Given the description of an element on the screen output the (x, y) to click on. 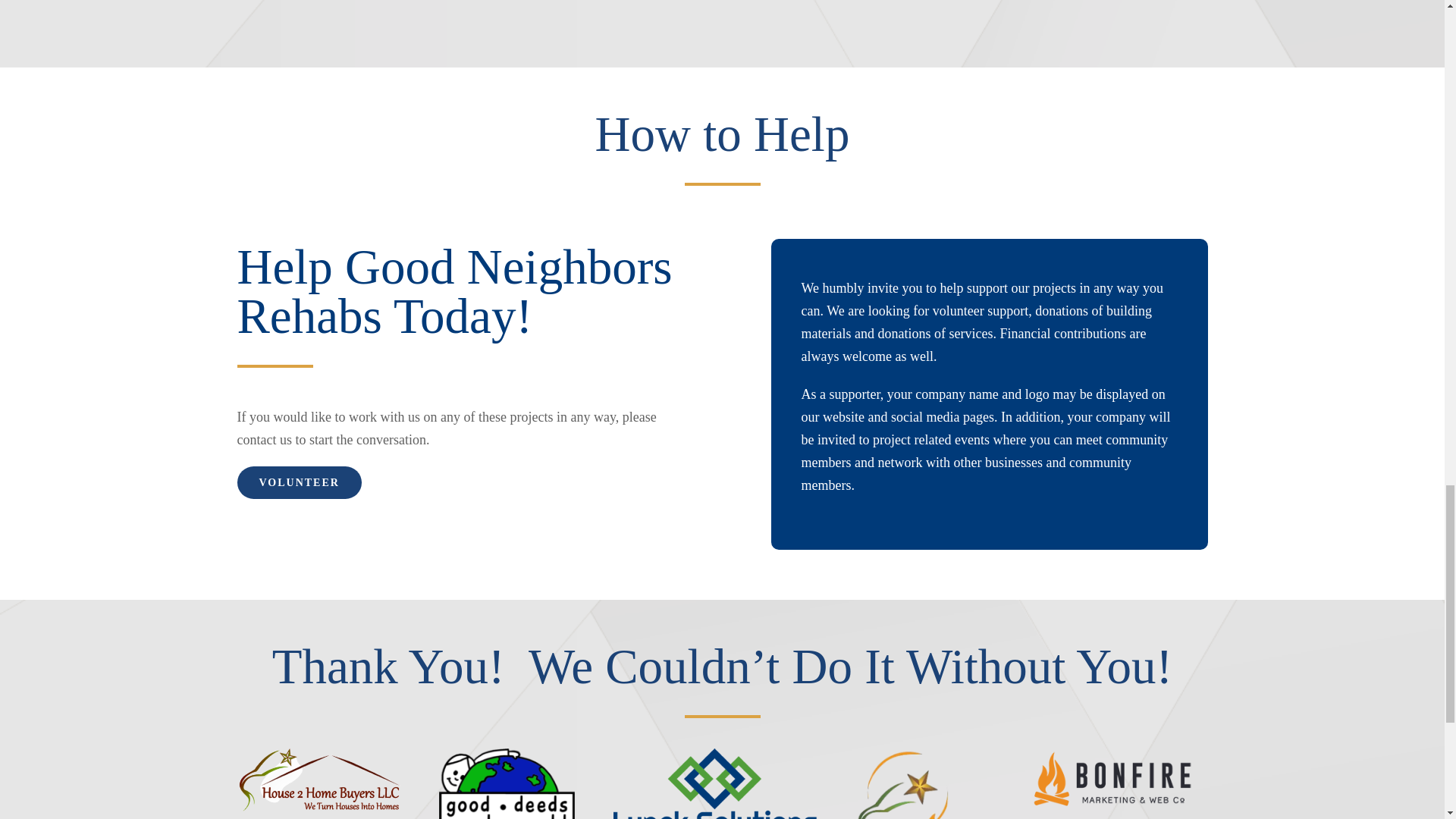
VOLUNTEER (298, 482)
GoodDeedsGoodWorldLogo (507, 783)
